Given the description of an element on the screen output the (x, y) to click on. 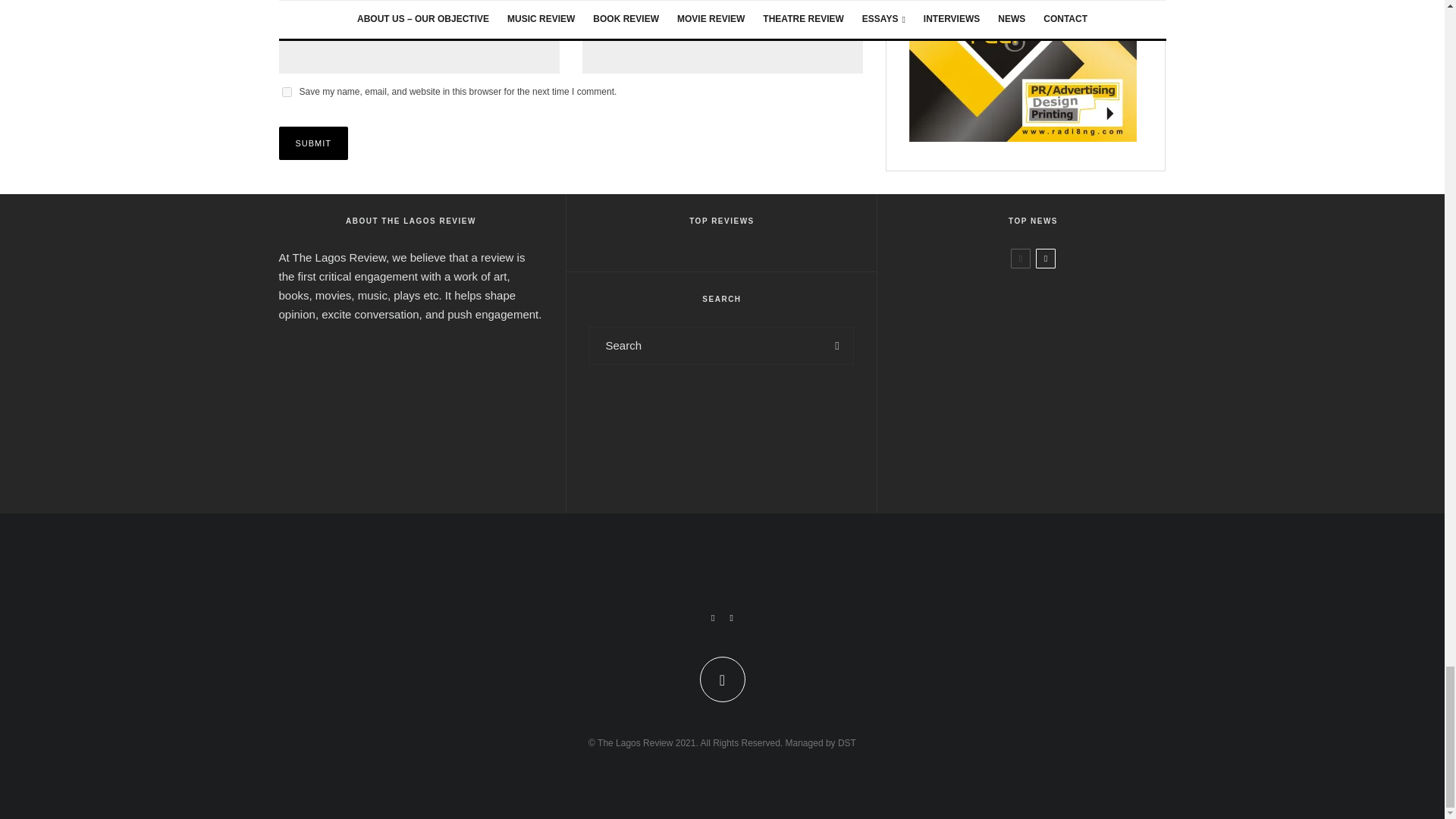
Submit (314, 142)
yes (287, 91)
